Given the description of an element on the screen output the (x, y) to click on. 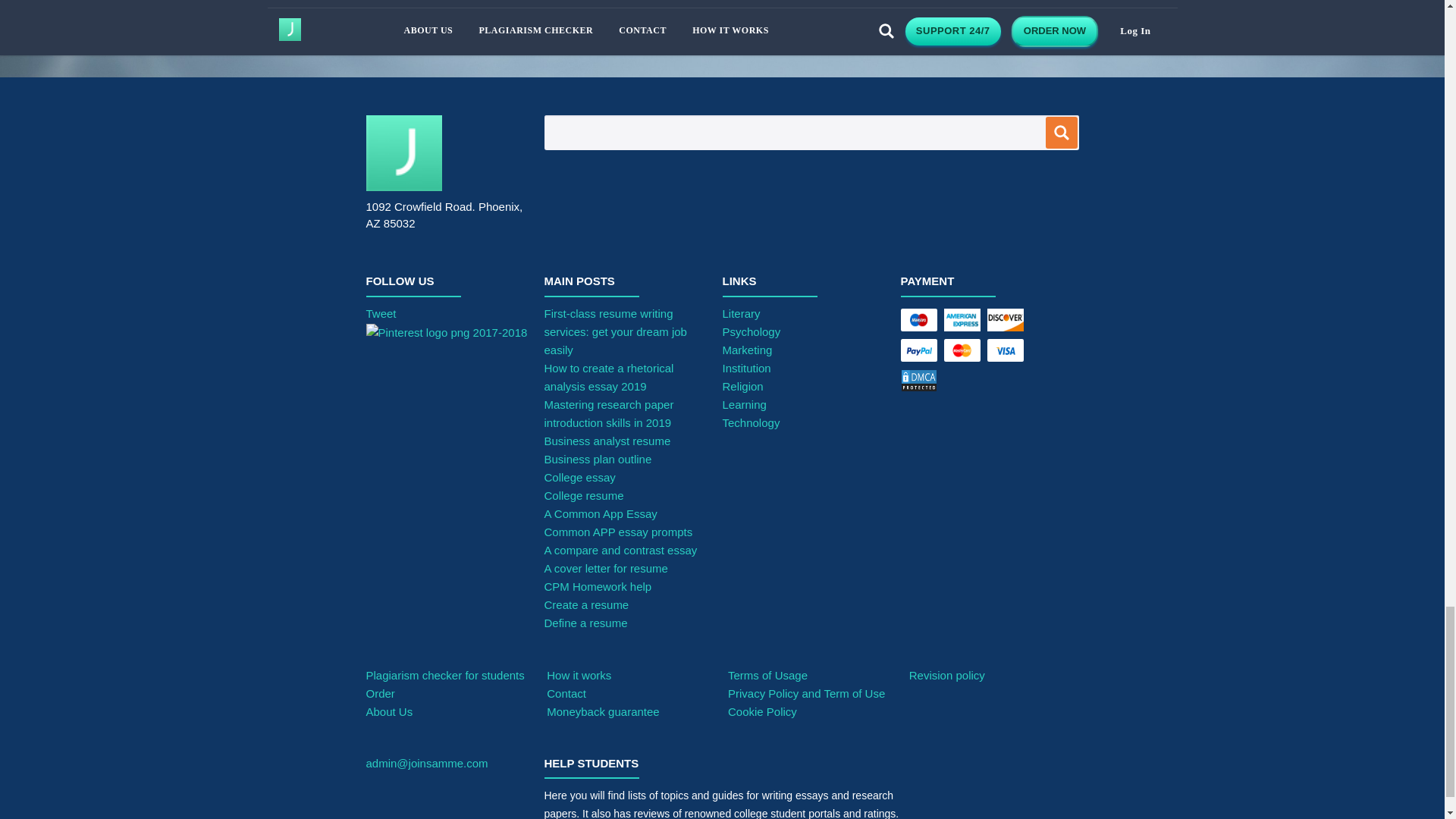
Content Protection by DMCA.com (965, 384)
